Given the description of an element on the screen output the (x, y) to click on. 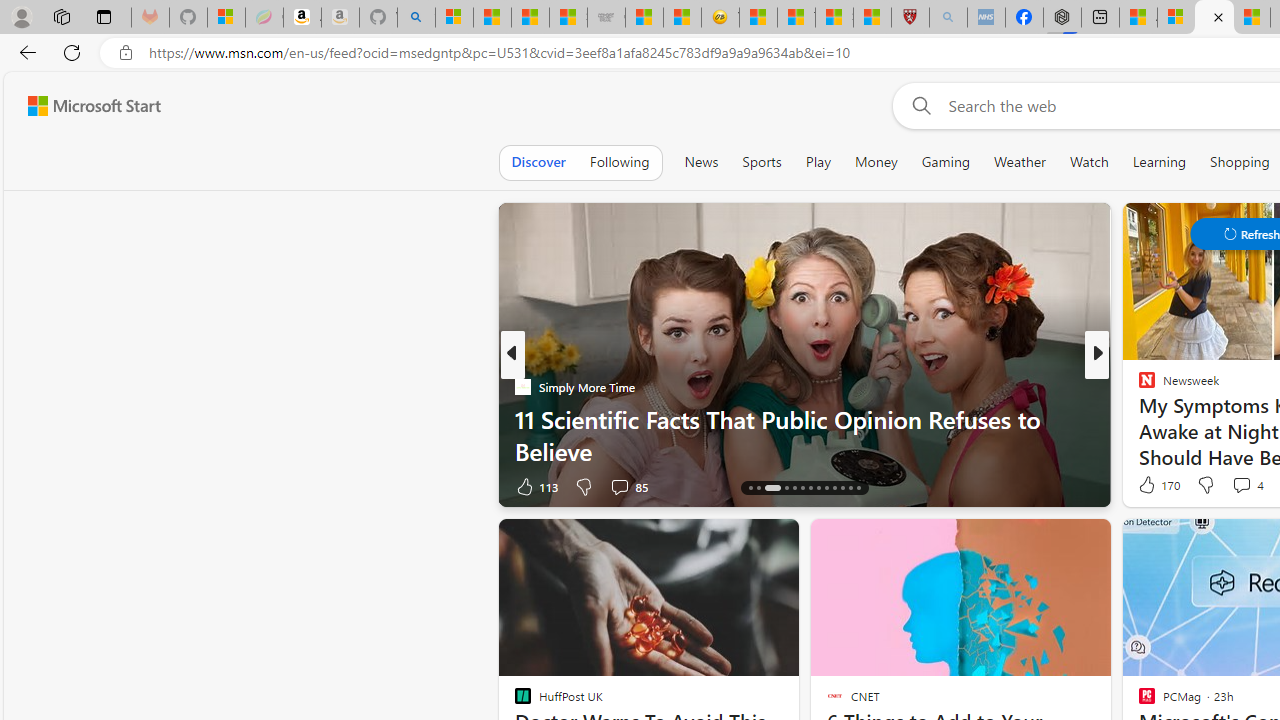
404 Like (1151, 486)
Pocket-lint (1138, 418)
AutomationID: tab-23 (833, 487)
AutomationID: tab-20 (810, 487)
Digital Trends (1138, 386)
AutomationID: tab-17 (786, 487)
View comments 2 Comment (11, 485)
